Given the description of an element on the screen output the (x, y) to click on. 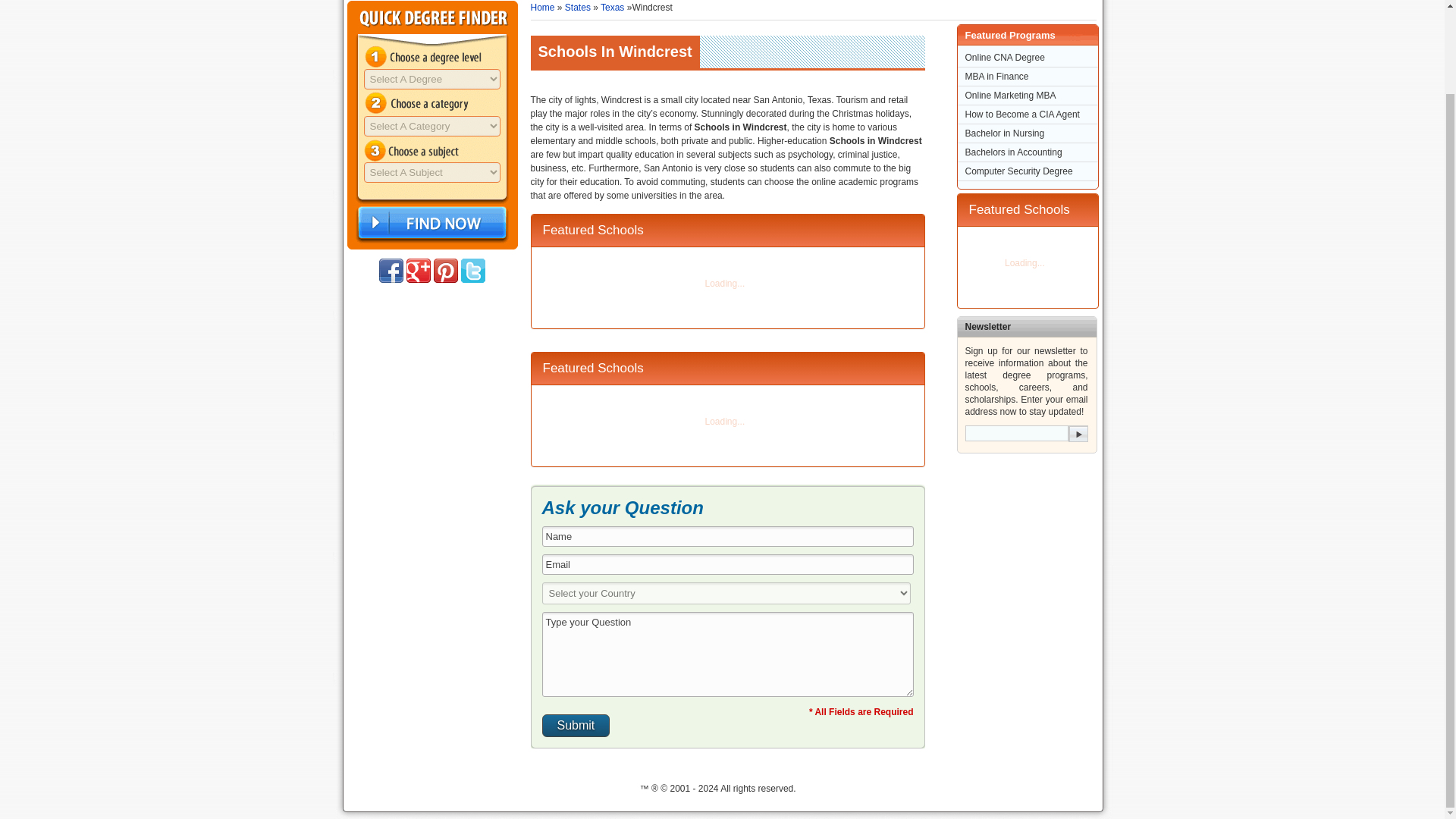
Find us on facebook (390, 270)
Find us on pinterest (445, 270)
Submit (575, 725)
Find us on twitter (472, 270)
Email (726, 564)
Name (726, 536)
